Given the description of an element on the screen output the (x, y) to click on. 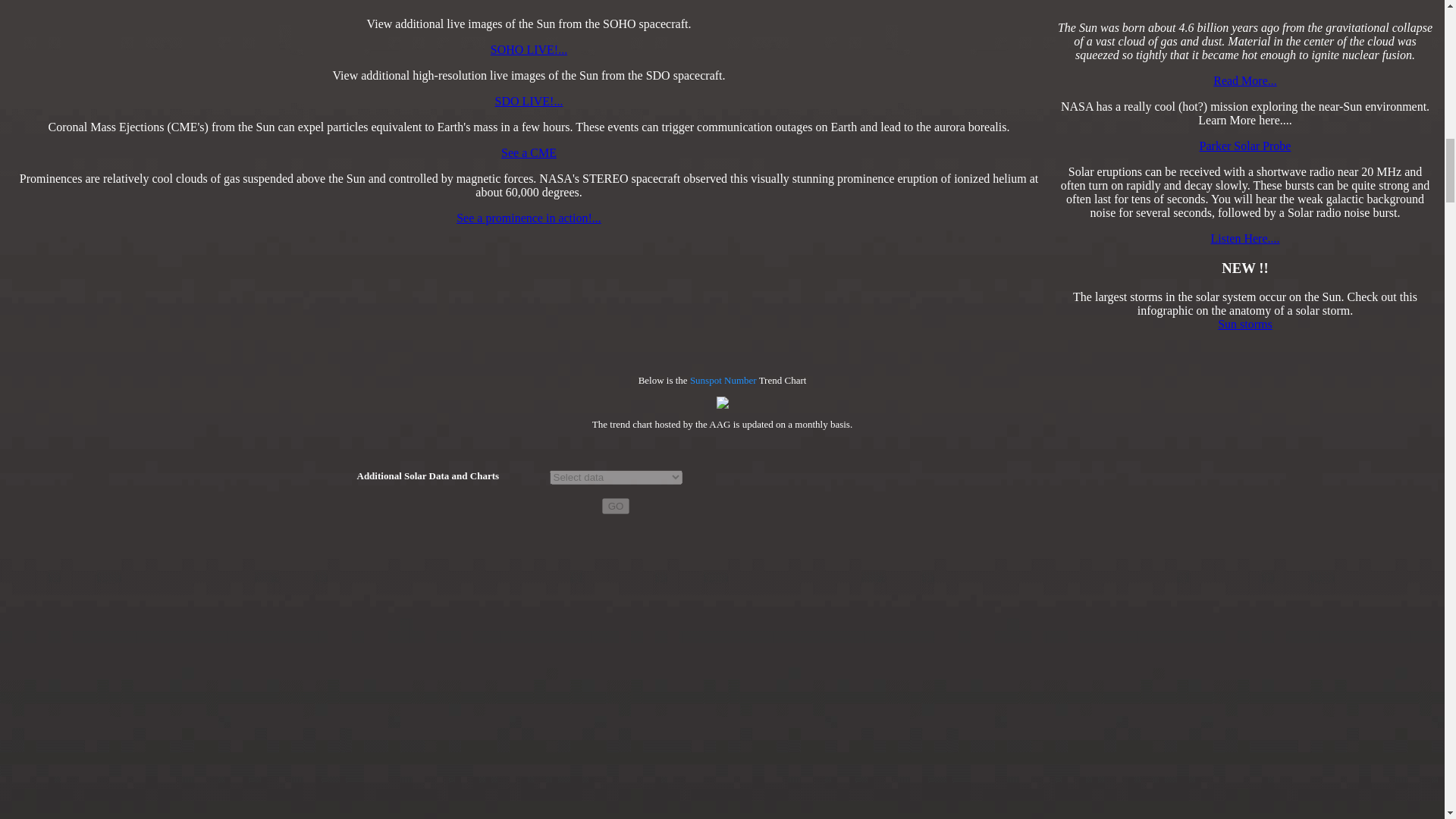
Parker Solar Probe (1245, 145)
SDO LIVE!... (529, 101)
SOHO LIVE!... (528, 49)
Read More... (1244, 80)
See a prominence in action!... (529, 217)
See a CME (528, 152)
Listen Here.... (1244, 237)
GO (616, 505)
Sun storms (1244, 323)
